Given the description of an element on the screen output the (x, y) to click on. 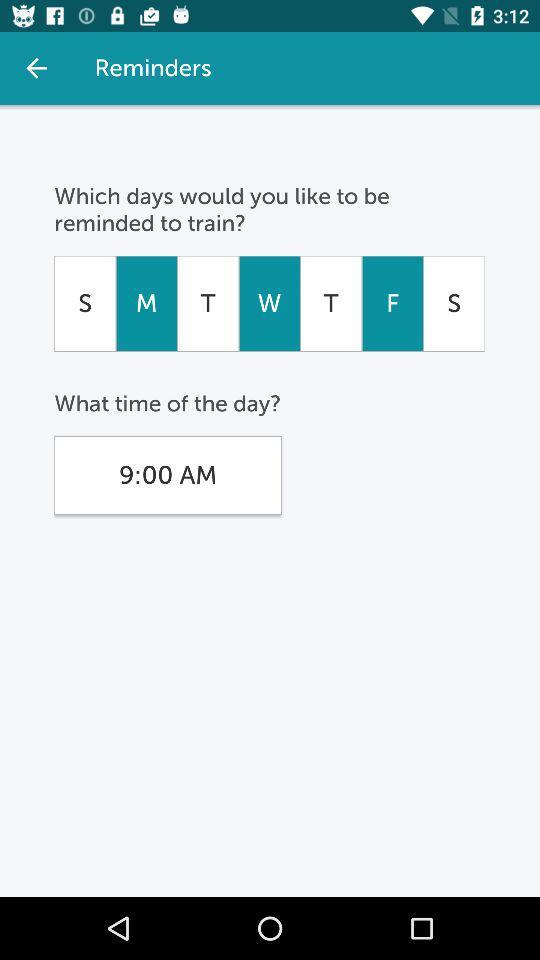
scroll to m icon (146, 303)
